Given the description of an element on the screen output the (x, y) to click on. 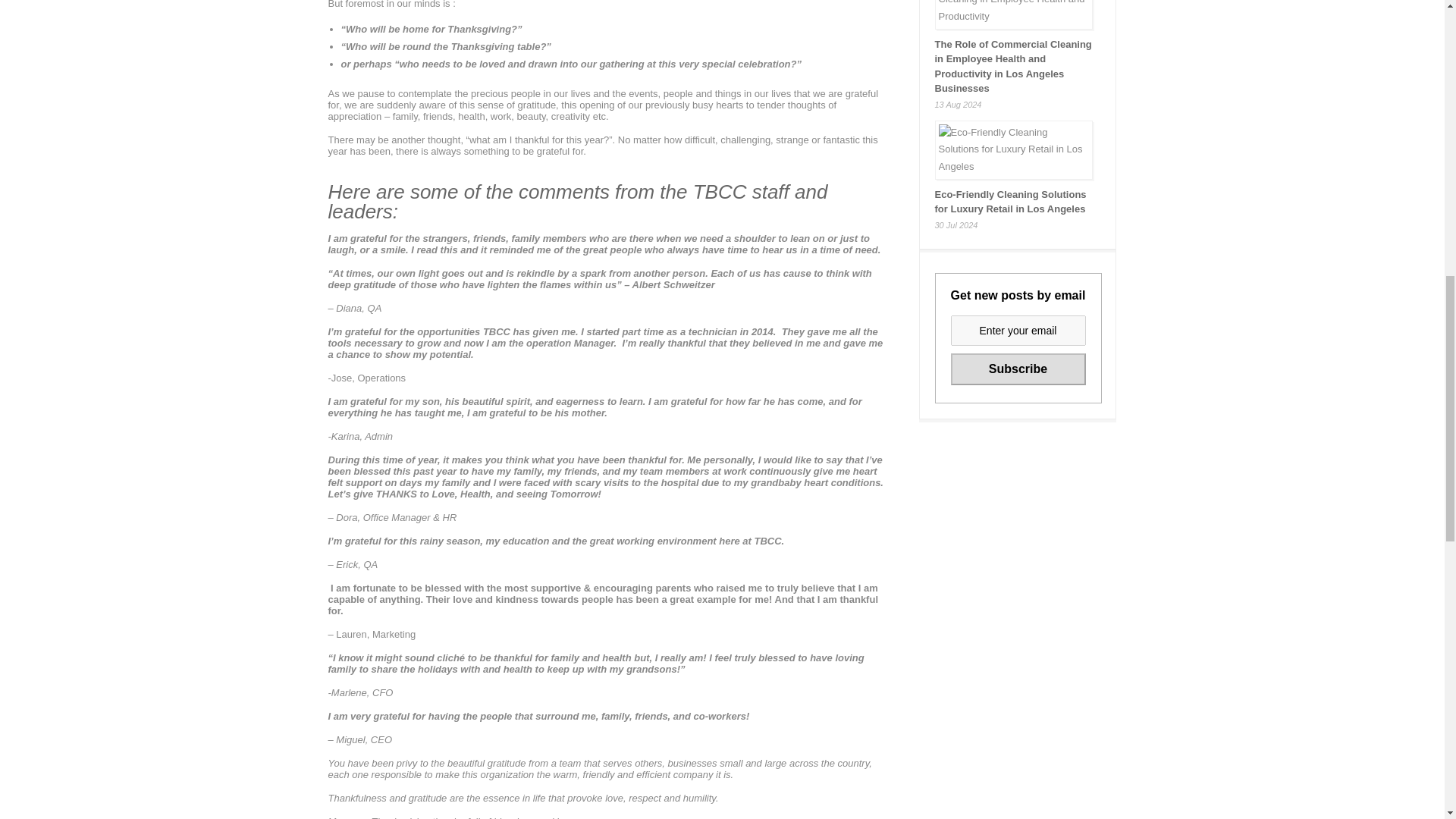
Subscribe (1018, 368)
Subscribe (1018, 368)
